Given the description of an element on the screen output the (x, y) to click on. 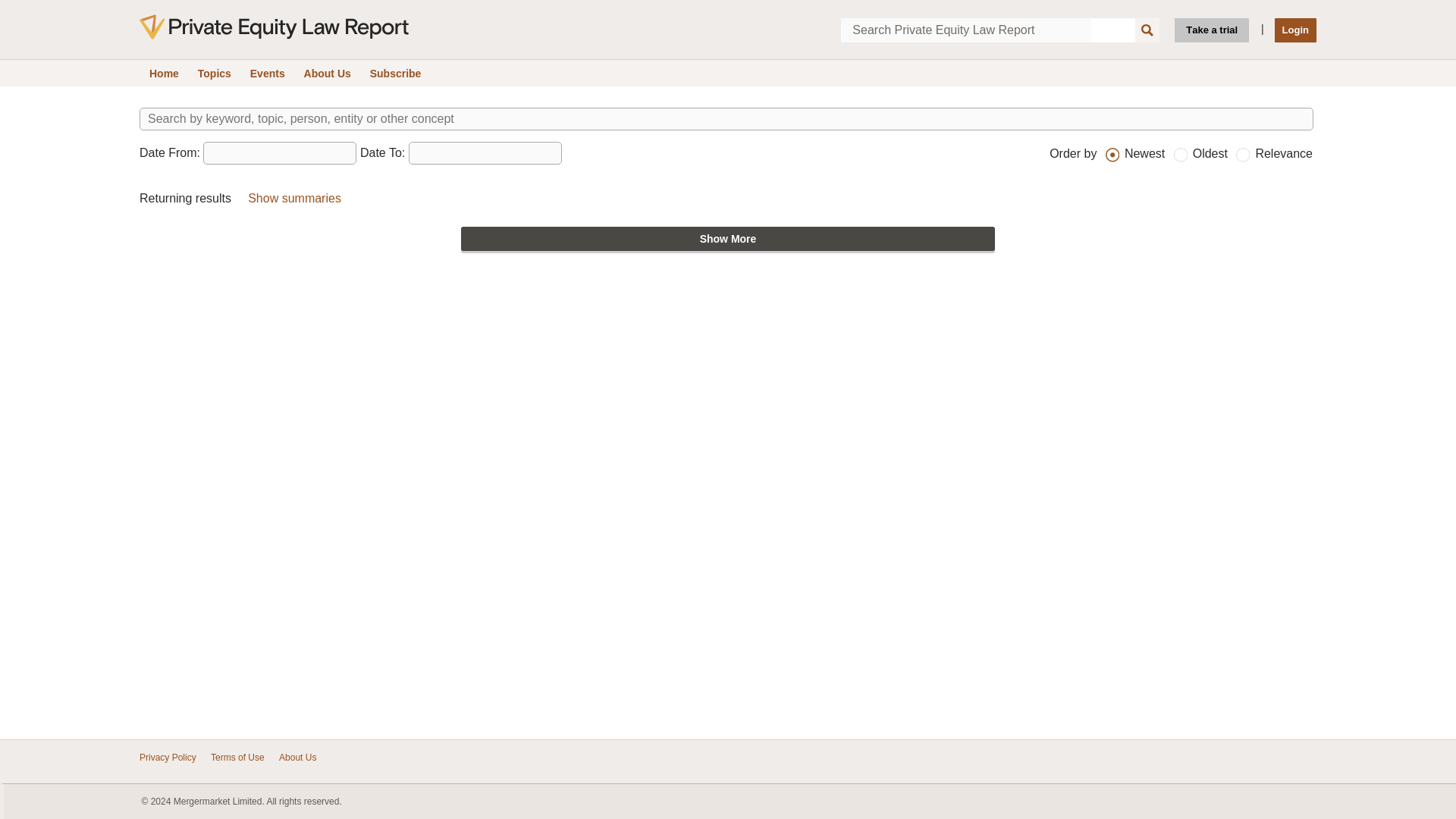
Take a trial (1211, 30)
Terms of Use (237, 757)
Search (1147, 30)
Show More (727, 238)
Privacy Policy (167, 757)
Login (1295, 30)
About Us (327, 72)
Home (163, 72)
About Us (297, 757)
Events (267, 72)
Topics (214, 72)
Search (1146, 30)
Show summaries (293, 197)
Subscribe (395, 72)
